Given the description of an element on the screen output the (x, y) to click on. 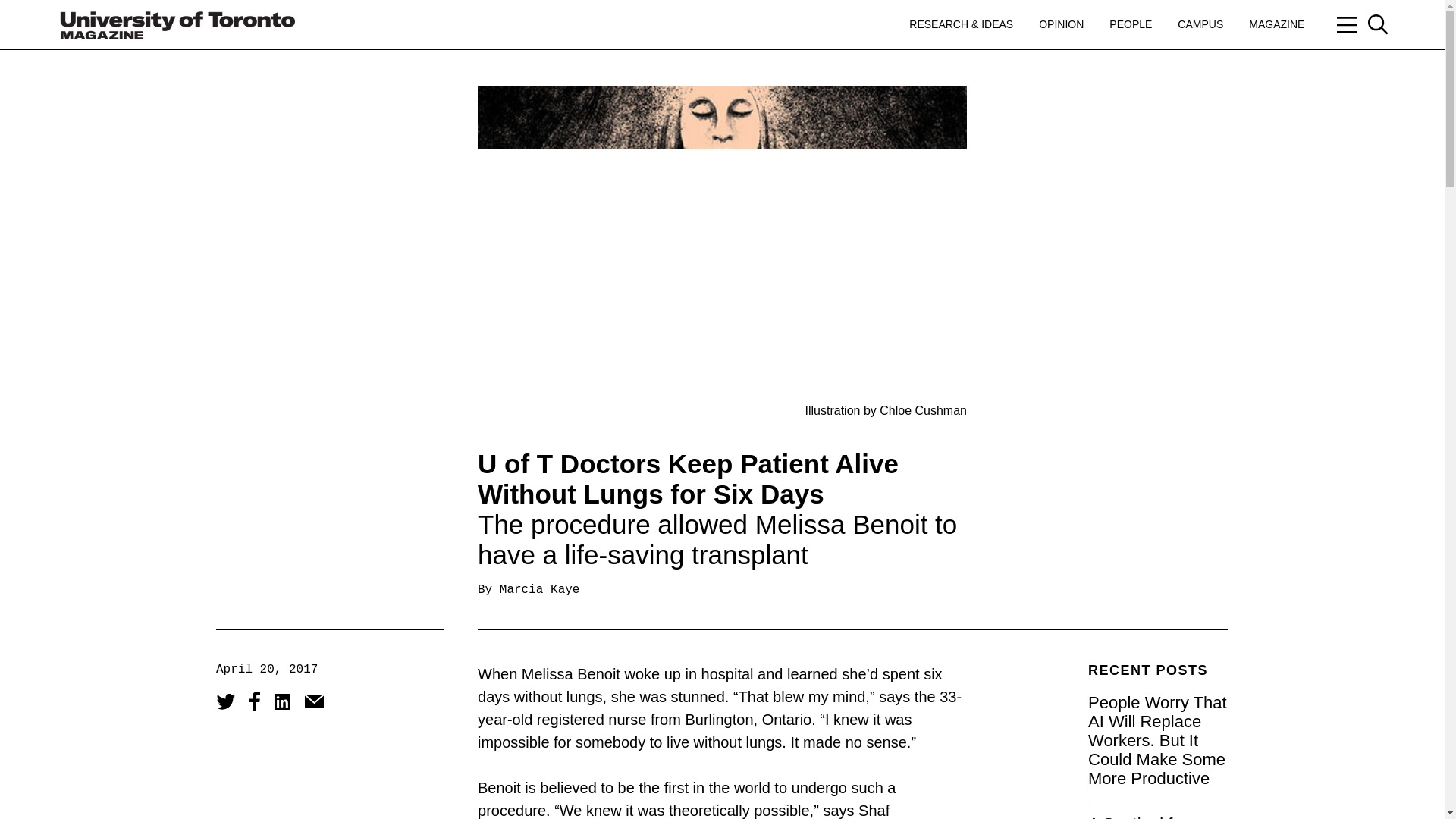
CAMPUS (1200, 24)
A Sentinel for Global Health (1138, 816)
PEOPLE (1130, 24)
MAGAZINE (1276, 24)
Posts by Marcia Kaye (539, 590)
Marcia Kaye (539, 590)
OPINION (1061, 24)
